Given the description of an element on the screen output the (x, y) to click on. 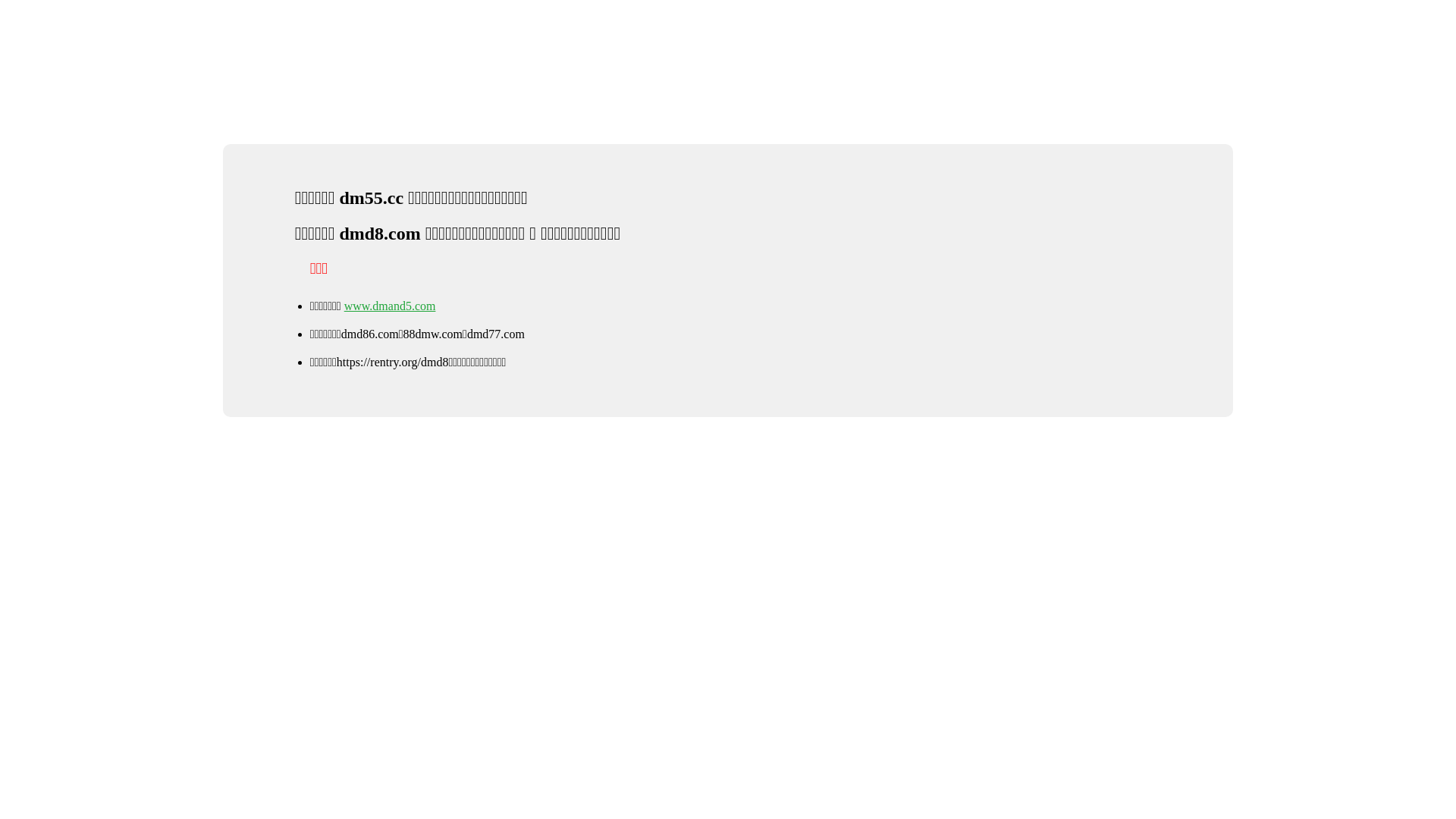
www.dmand5.com Element type: text (390, 305)
